Given the description of an element on the screen output the (x, y) to click on. 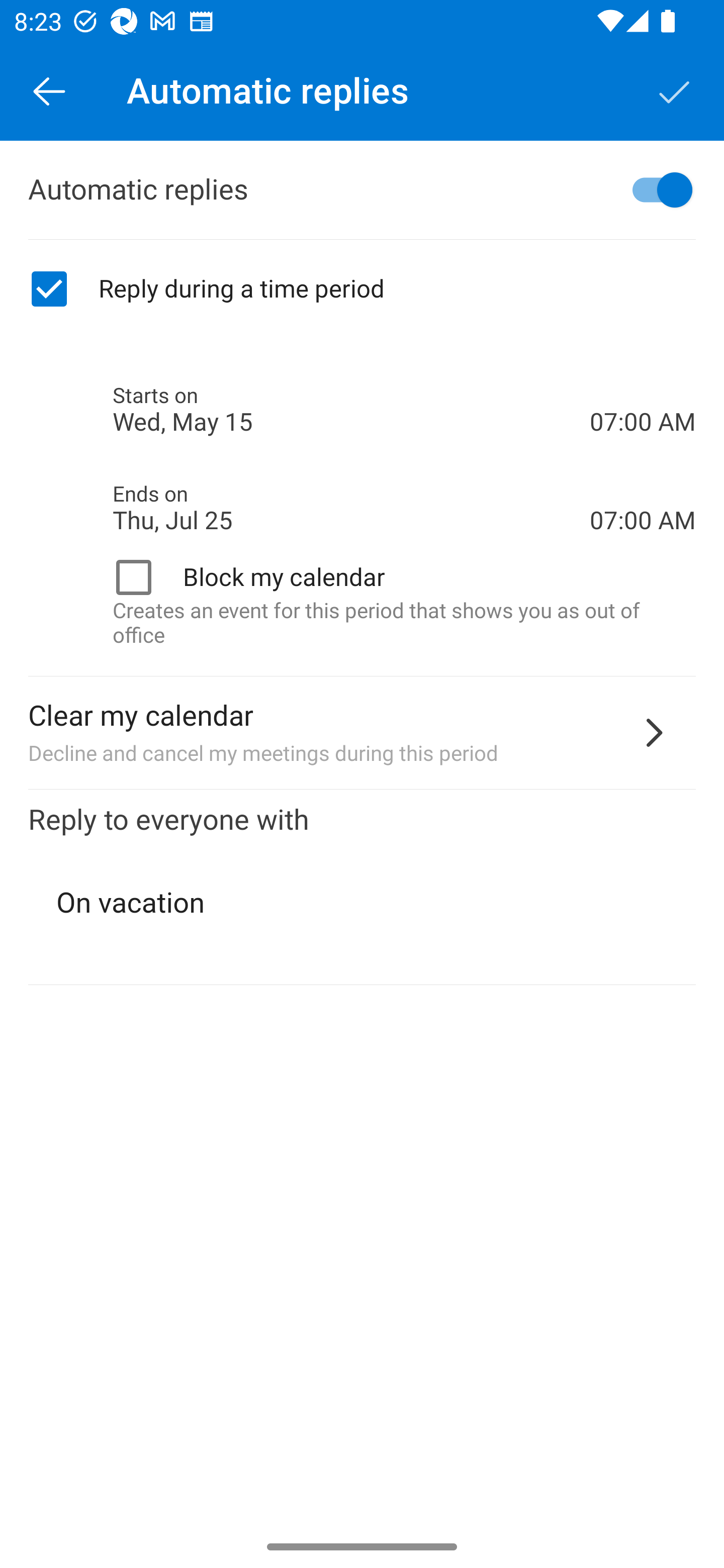
Back (49, 90)
Save (674, 90)
Automatic replies (362, 190)
Reply during a time period (362, 288)
07:00 AM (642, 387)
Starts on Wed, May 15 (351, 409)
07:00 AM (642, 485)
Ends on Thu, Jul 25 (351, 507)
Reply to everyone with Edit box On vacation (361, 887)
On vacation (363, 902)
